Given the description of an element on the screen output the (x, y) to click on. 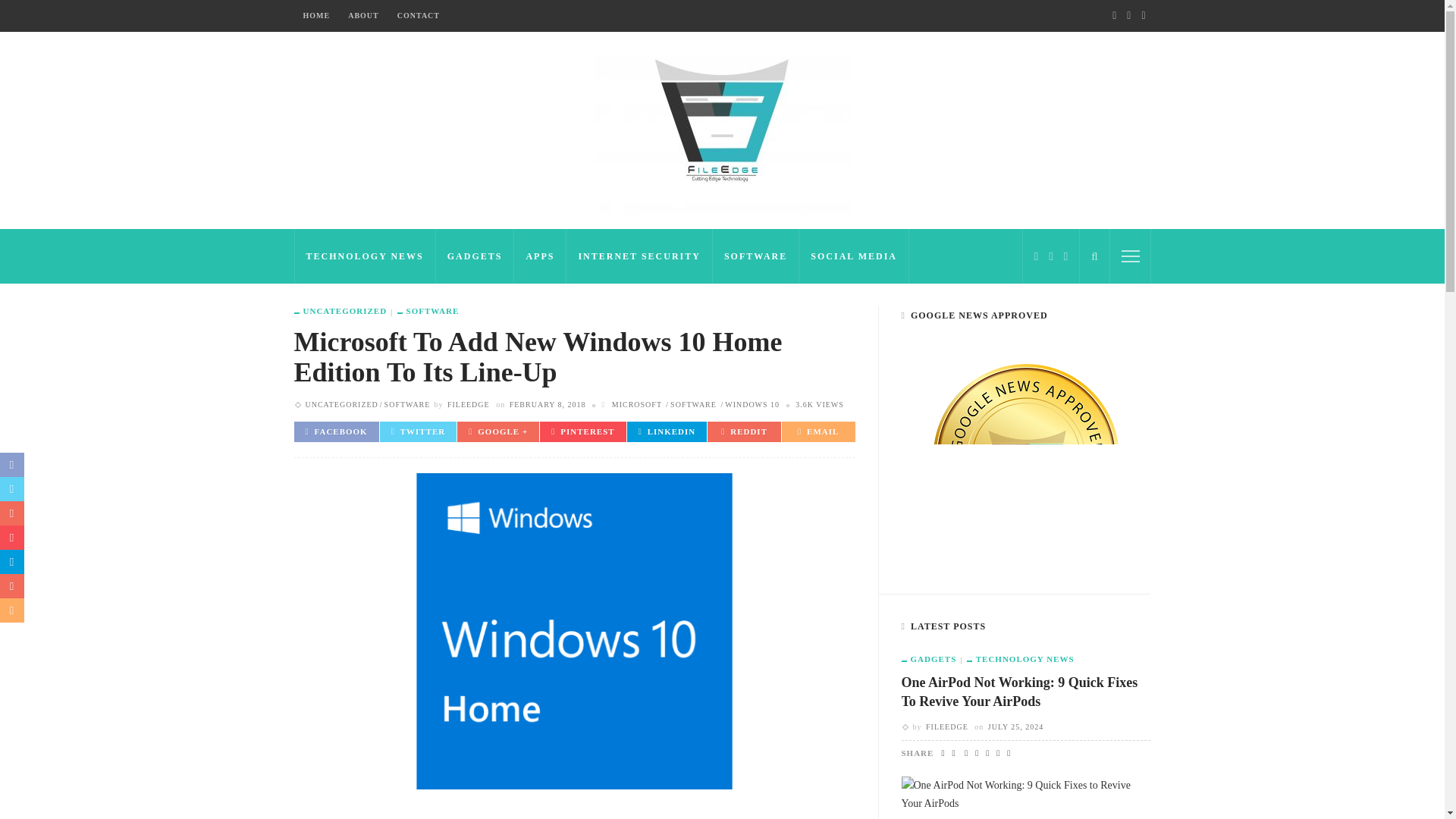
Uncategorized (345, 311)
Twitter (1050, 256)
File Edge (721, 128)
Software (404, 404)
Facebook (1036, 256)
Software (428, 311)
menu (1129, 256)
Uncategorized (340, 404)
